Given the description of an element on the screen output the (x, y) to click on. 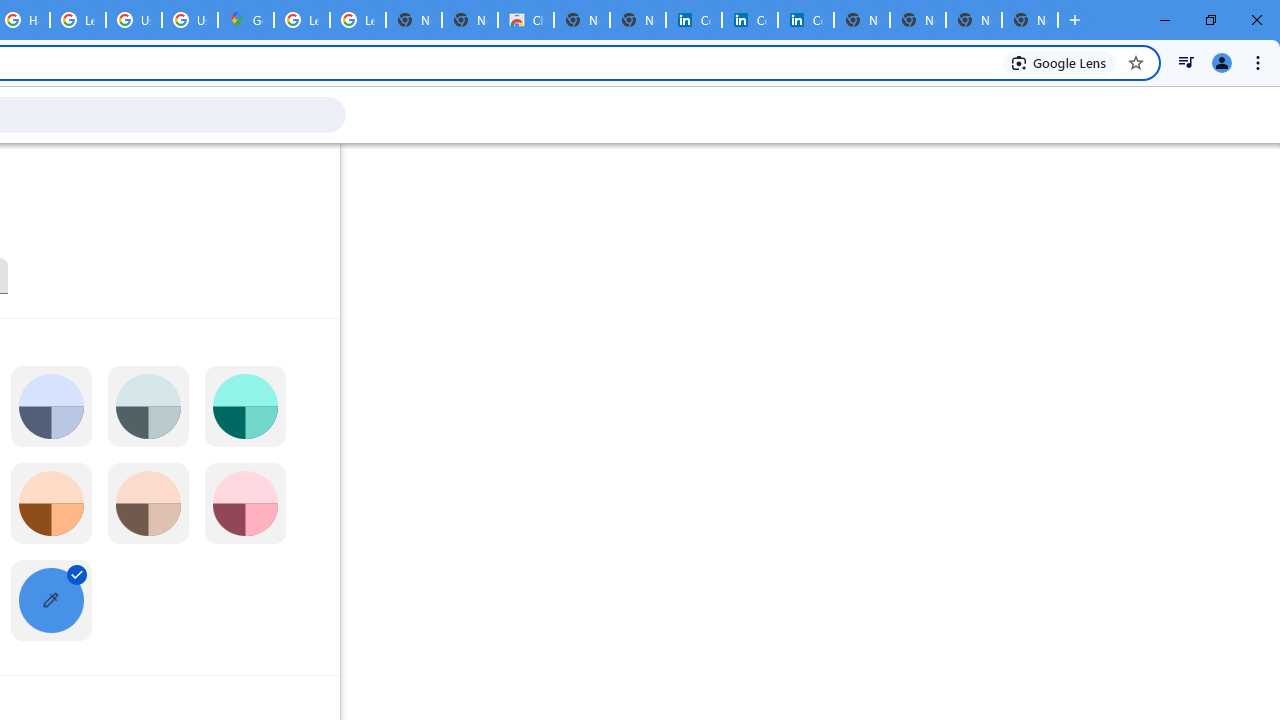
Copyright Policy (806, 20)
Search with Google Lens (1059, 62)
